Given the description of an element on the screen output the (x, y) to click on. 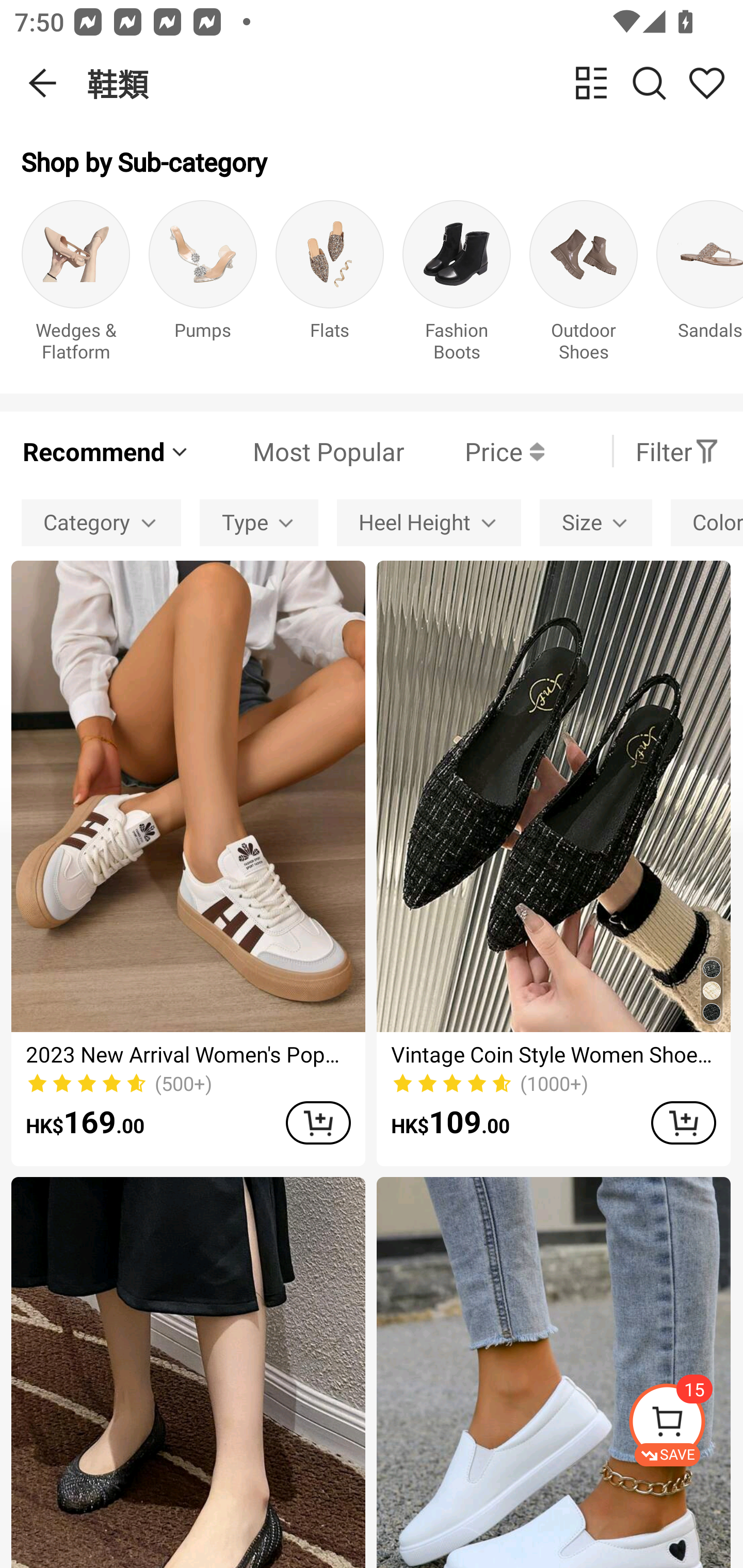
鞋類 change view Search Share (414, 82)
change view (591, 82)
Search (648, 82)
Share (706, 82)
Wedges & Flatform (75, 285)
Pumps (202, 285)
Flats (329, 285)
Fashion Boots (456, 285)
Outdoor Shoes (583, 285)
Sandals (699, 285)
Recommend (106, 450)
Most Popular (297, 450)
Price (474, 450)
Filter (677, 450)
Category (101, 521)
Type (258, 521)
Heel Height (428, 521)
Size (595, 521)
Color (706, 521)
ADD TO CART (318, 1122)
ADD TO CART (683, 1122)
SAVE (685, 1424)
